Given the description of an element on the screen output the (x, y) to click on. 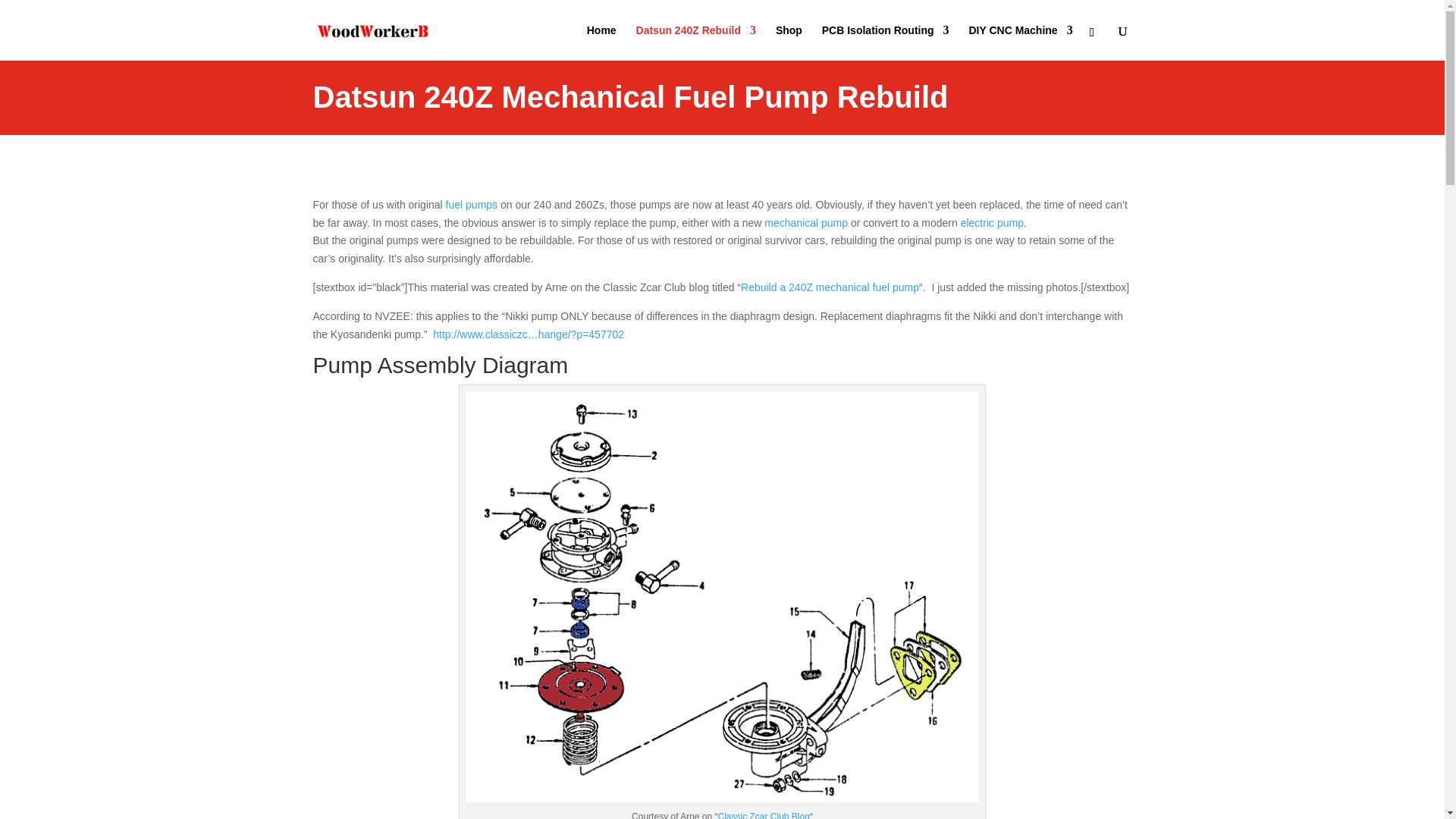
Link added by VigLink (805, 223)
Link added by VigLink (991, 223)
Datsun 240Z Rebuild (695, 42)
Link added by VigLink (471, 204)
